Given the description of an element on the screen output the (x, y) to click on. 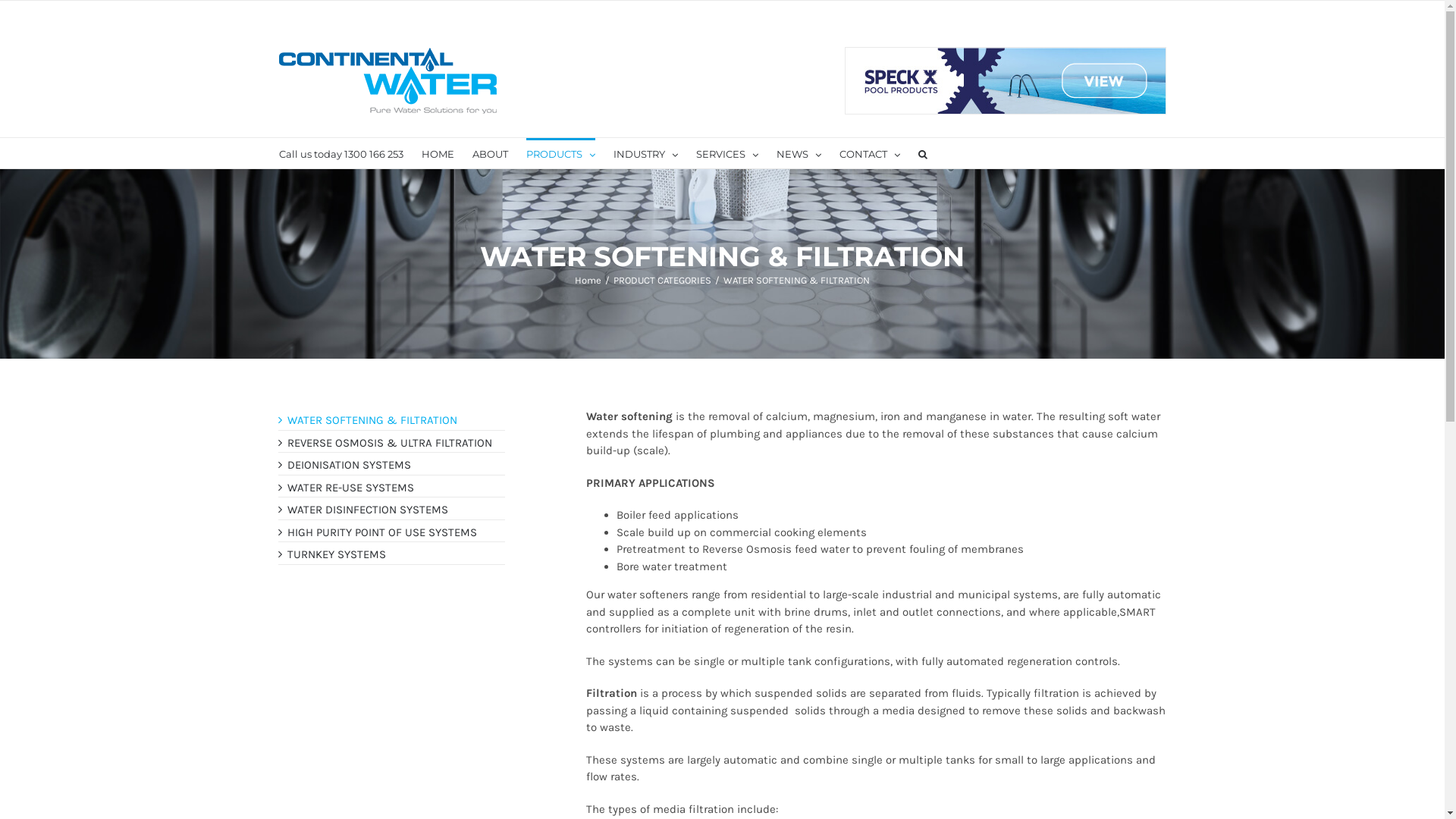
HOME Element type: text (437, 153)
Search Element type: hover (921, 153)
WATER SOFTENING & FILTRATION Element type: text (372, 419)
TURNKEY SYSTEMS Element type: text (336, 554)
PRODUCTS Element type: text (560, 153)
REVERSE OSMOSIS & ULTRA FILTRATION Element type: text (389, 441)
WATER RE-USE SYSTEMS Element type: text (350, 487)
WATER DISINFECTION SYSTEMS Element type: text (367, 509)
CONTACT Element type: text (868, 153)
HIGH PURITY POINT OF USE SYSTEMS Element type: text (381, 531)
SERVICES Element type: text (727, 153)
DEIONISATION SYSTEMS Element type: text (349, 464)
ABOUT Element type: text (489, 153)
NEWS Element type: text (798, 153)
Home Element type: text (587, 279)
INDUSTRY Element type: text (644, 153)
PRODUCT CATEGORIES Element type: text (662, 279)
Call us today 1300 166 253 Element type: text (341, 153)
